Given the description of an element on the screen output the (x, y) to click on. 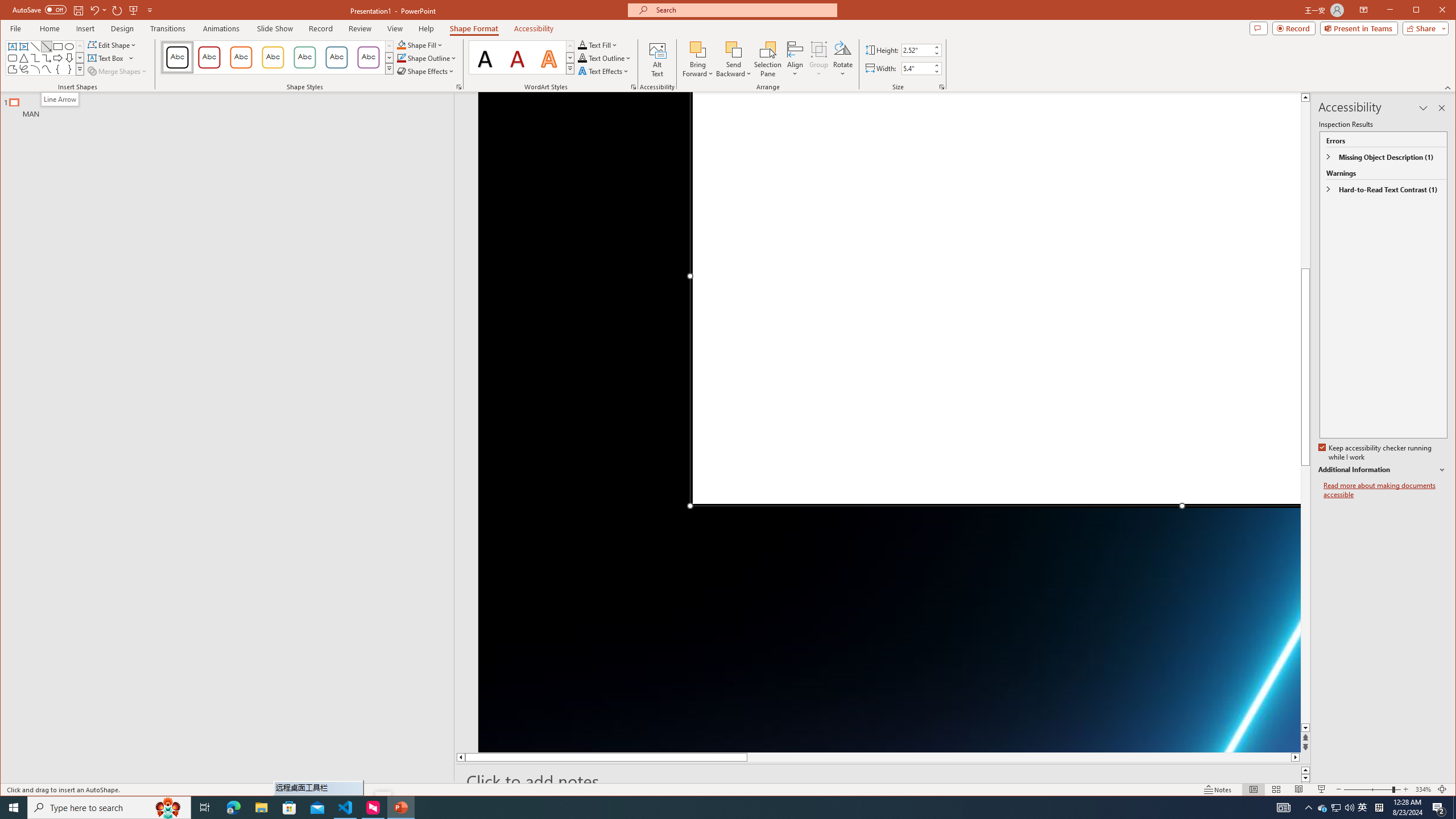
Draw Horizontal Text Box (106, 57)
Shape Height (916, 50)
Edit Shape (112, 44)
Shape Width (916, 68)
